Given the description of an element on the screen output the (x, y) to click on. 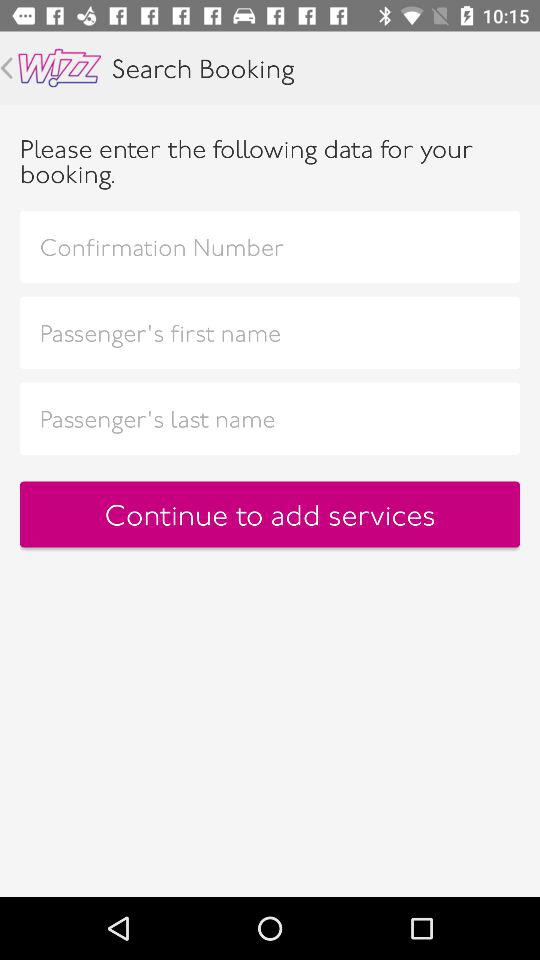
go back (6, 67)
